Given the description of an element on the screen output the (x, y) to click on. 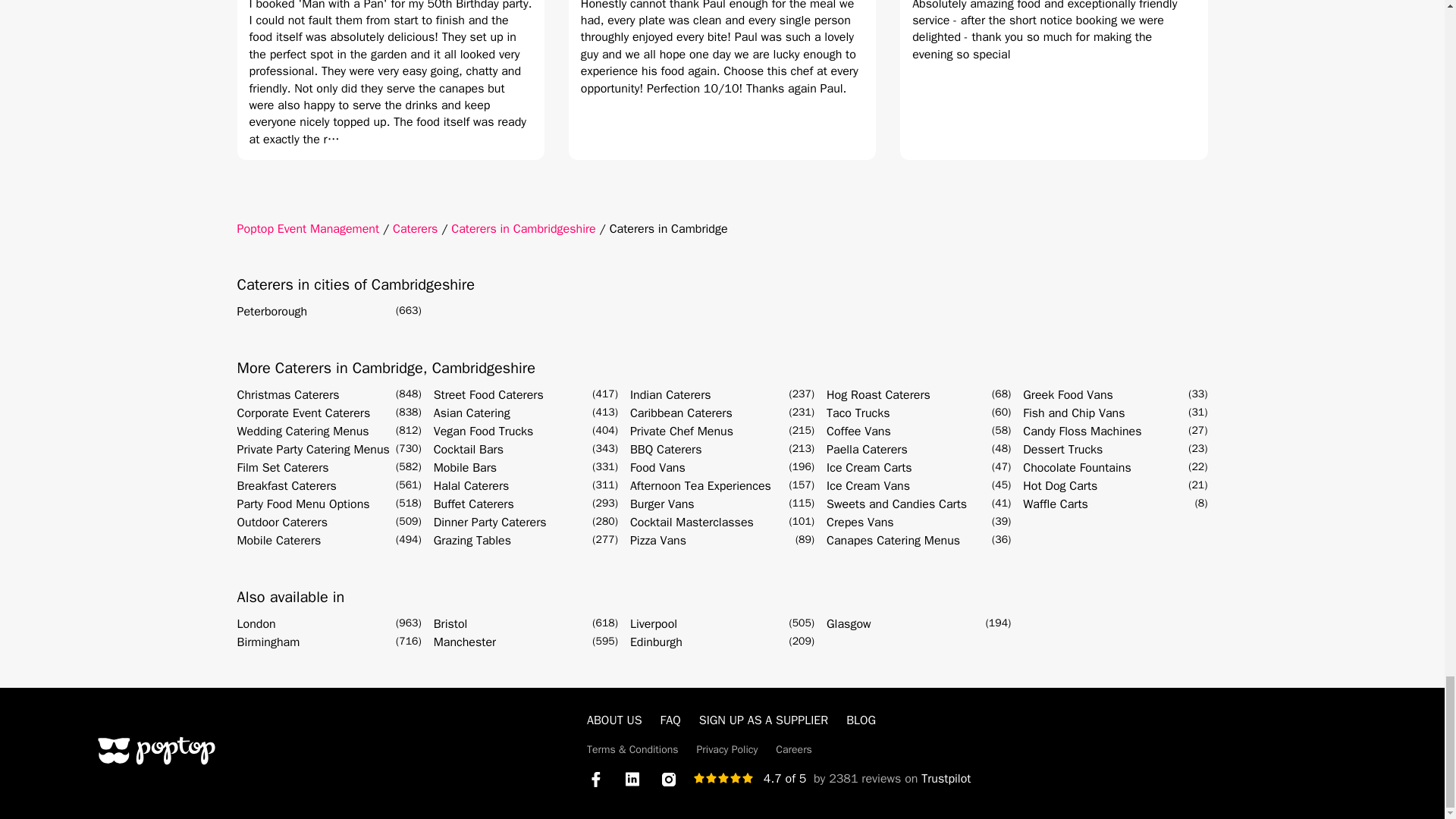
Breakfast Caterers (285, 485)
Street Food Caterers (488, 394)
Dinner Party Caterers (490, 522)
Buffet Caterers (473, 504)
Coffee Vans (859, 431)
Outdoor Caterers (280, 522)
BBQ Caterers (665, 449)
Vegan Food Trucks (483, 431)
Cocktail Bars (468, 449)
Asian Catering (472, 413)
Private Party Catering Menus (311, 449)
Mobile Bars (464, 467)
Private Chef Menus (681, 431)
Afternoon Tea Experiences (700, 485)
Halal Caterers (471, 485)
